Given the description of an element on the screen output the (x, y) to click on. 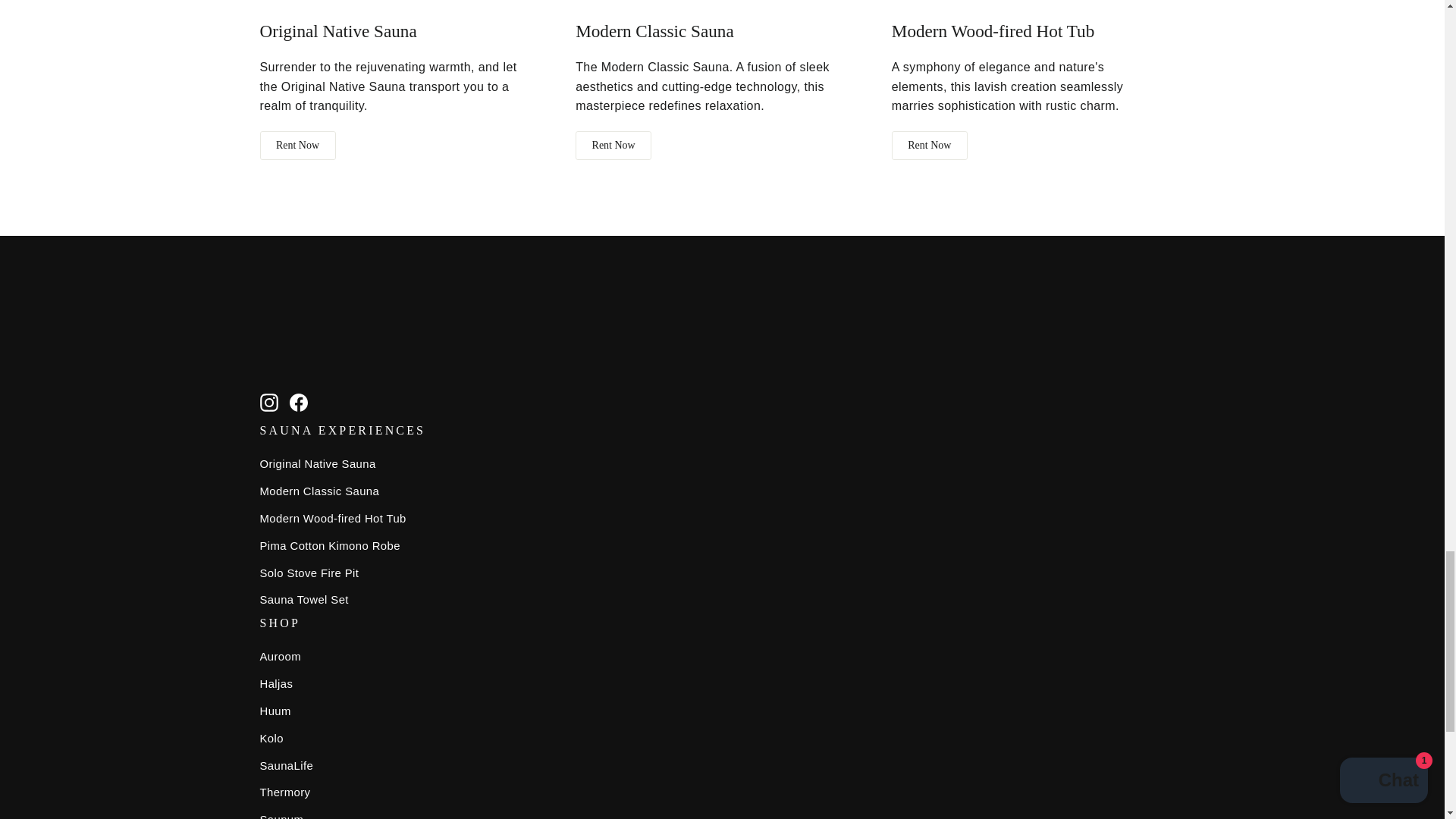
instagram (268, 402)
Native Sauna on Instagram (268, 401)
Native Sauna on Facebook (298, 401)
